Given the description of an element on the screen output the (x, y) to click on. 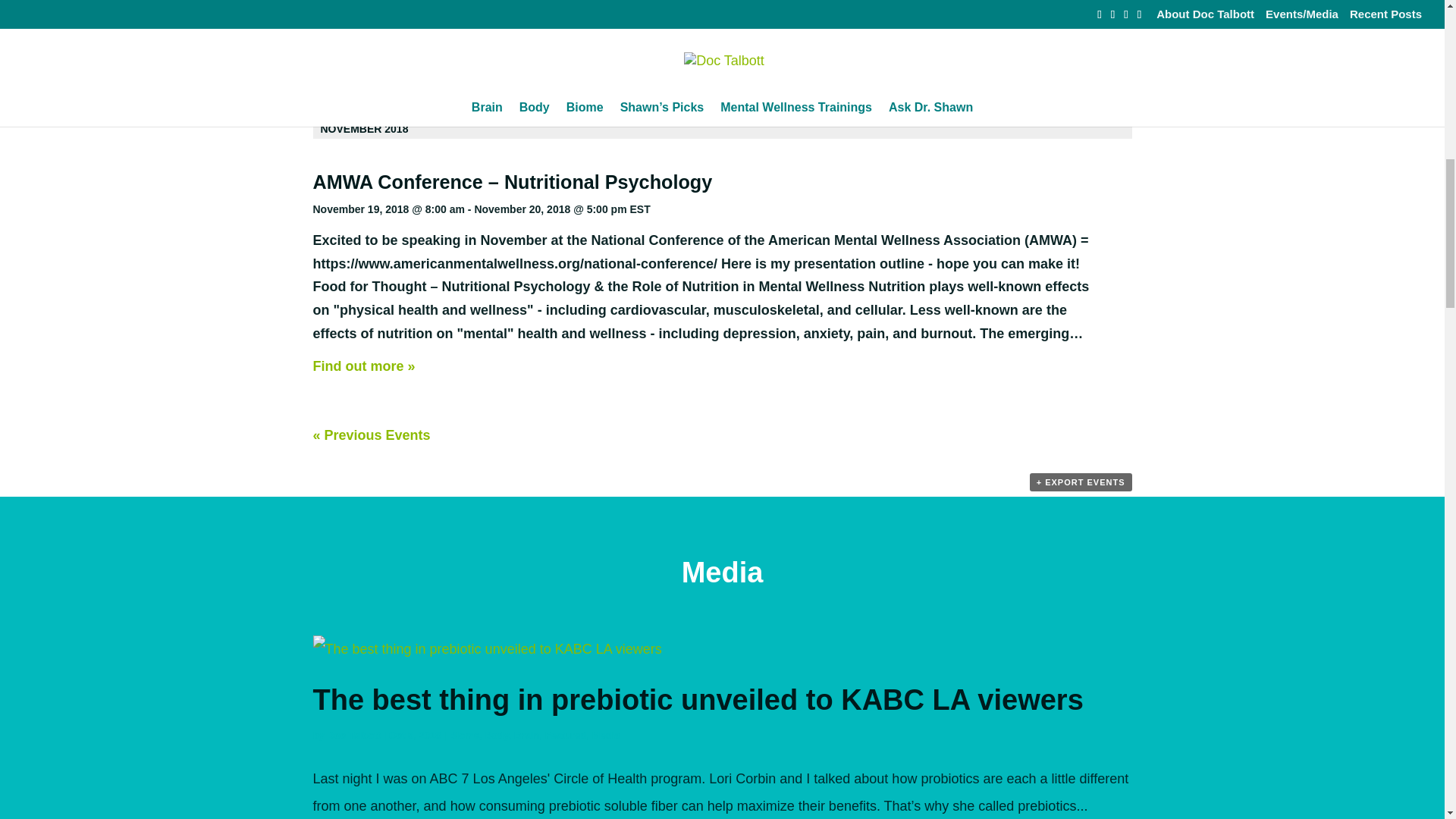
Media (606, 735)
Doc Talbott (353, 735)
The best thing in prebiotic unveiled to KABC LA viewers (698, 699)
Body (496, 735)
Posts by Doc Talbott (353, 735)
Featured (565, 735)
Biome (463, 735)
Brain (525, 735)
